Given the description of an element on the screen output the (x, y) to click on. 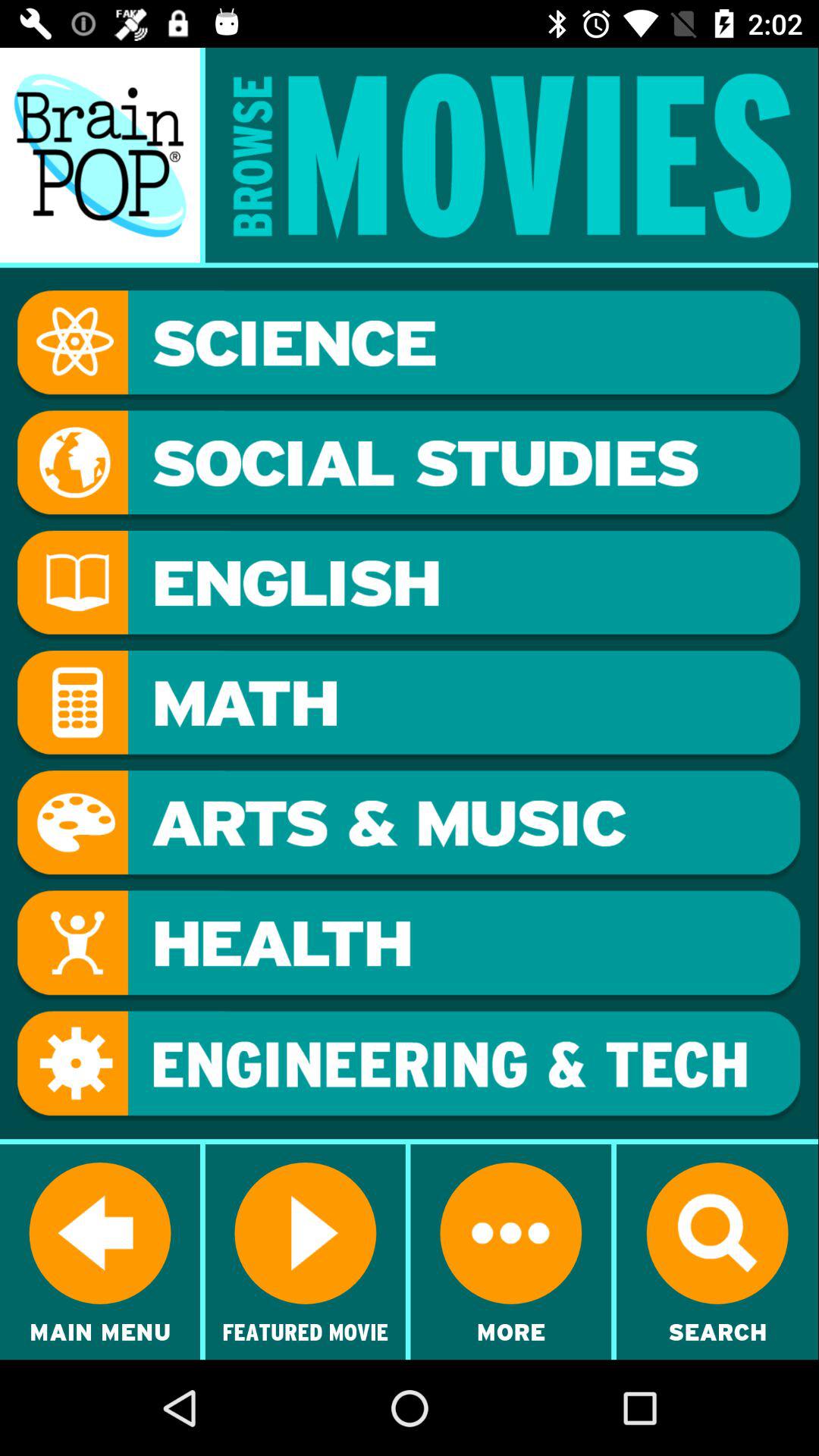
main menu (100, 154)
